Given the description of an element on the screen output the (x, y) to click on. 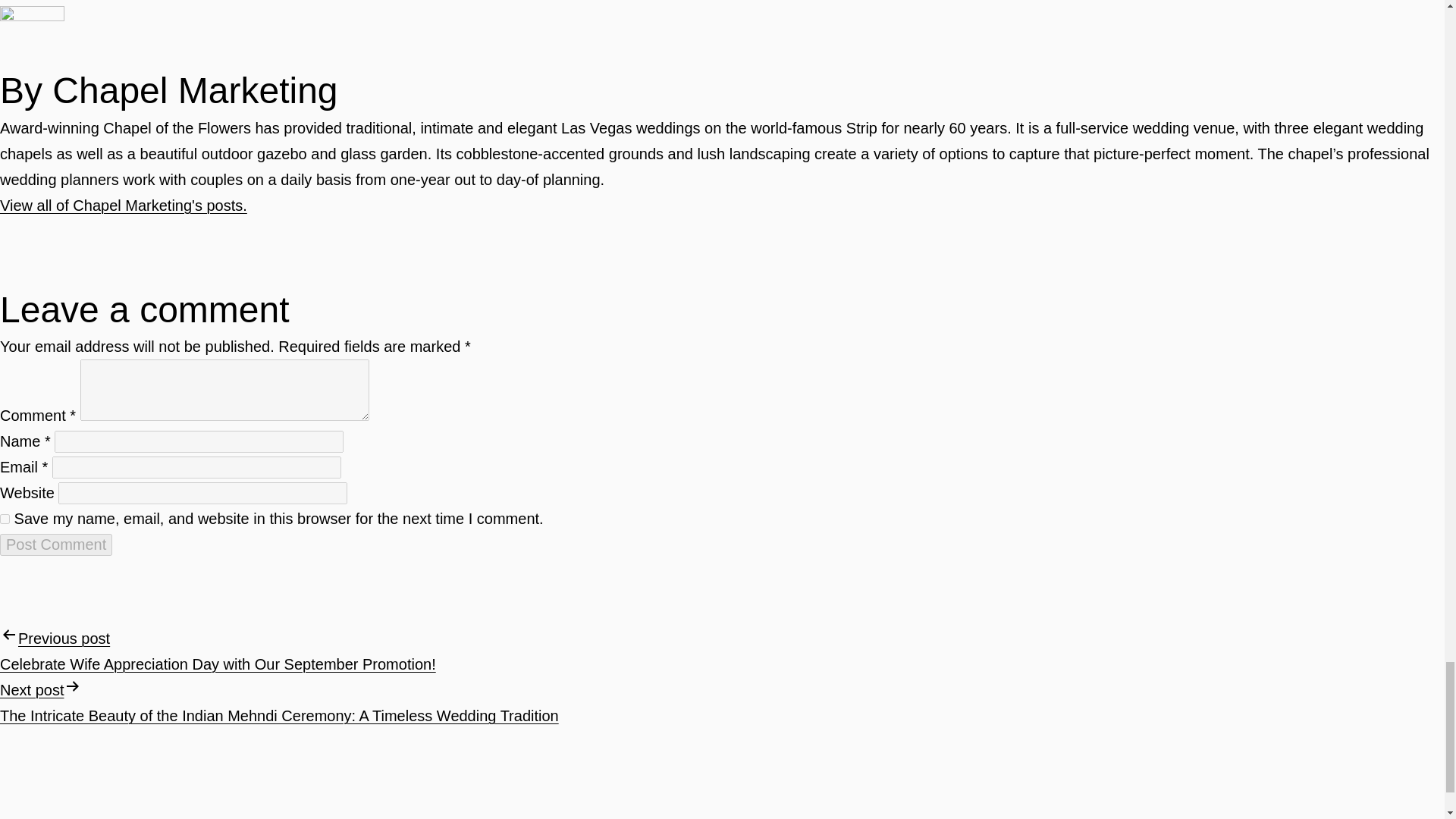
yes (5, 519)
Post Comment (56, 544)
Post Comment (56, 544)
View all of Chapel Marketing's posts. (123, 205)
